Given the description of an element on the screen output the (x, y) to click on. 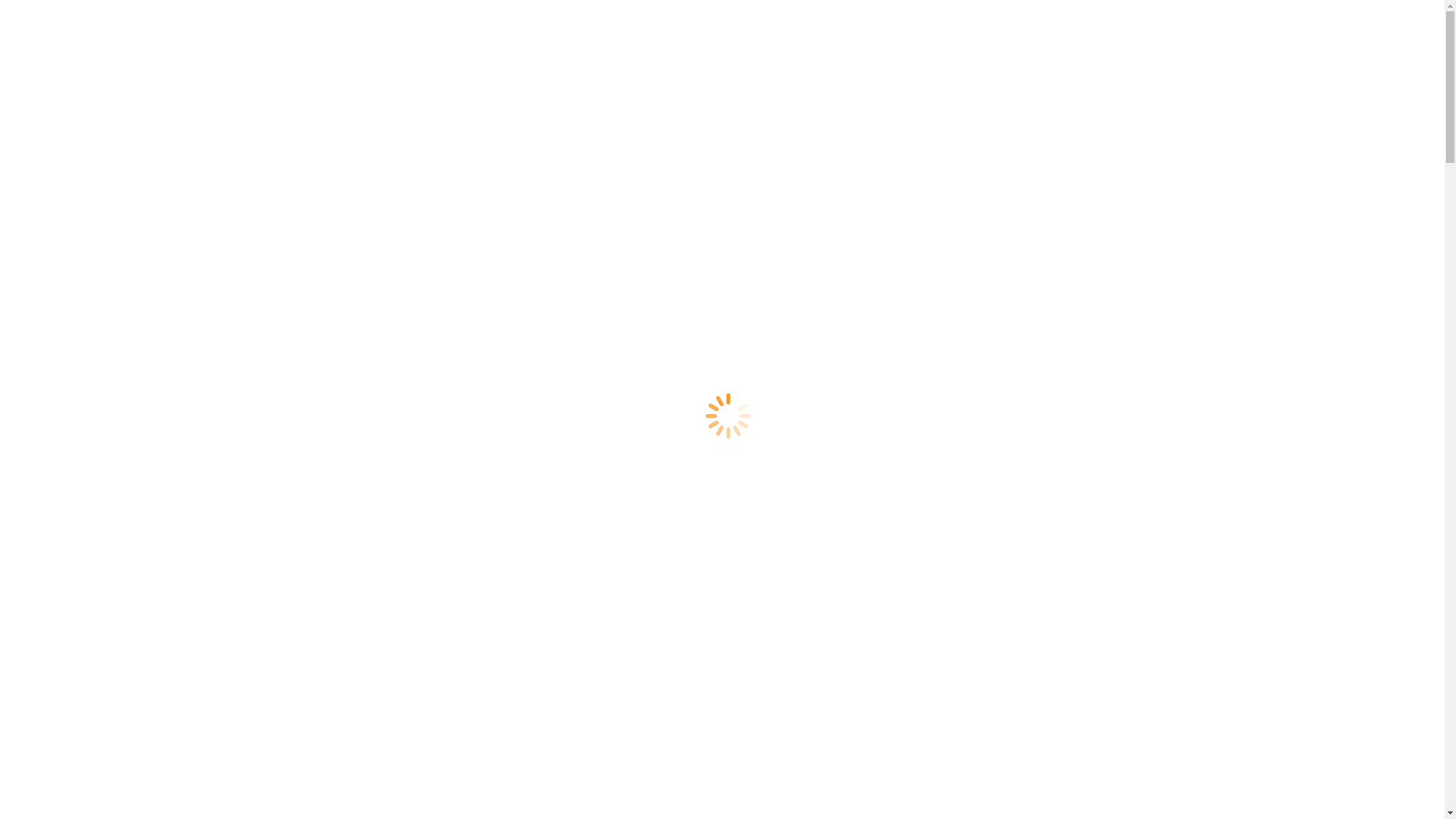
LUXURY CUSTOM HOME BUILDERS SYDNEY Element type: text (194, 391)
GRANNY FLAT BUILDERS WESTERN SYDNEY Element type: text (195, 699)
CUSTOM HOME BUILDERS SYDNEY Element type: text (168, 309)
BLOG Element type: text (58, 241)
DESIGNER HOMES SYDNEY Element type: text (145, 432)
GRANNY FLATS PENRITH Element type: text (138, 658)
GRANNY FLAT BUILDERS WESTERN SYDNEY Element type: text (195, 322)
BUILDING Element type: text (95, 535)
BUILDING Element type: text (95, 159)
CONTACT US Element type: text (78, 227)
PROJECT MANAGEMENT Element type: text (137, 548)
CUSTOM HOME BUILDERS PARRAMATTA Element type: text (183, 753)
PROJECTS Element type: text (70, 200)
LUXURY HOME BUILDERS SYDNEY Element type: text (167, 644)
WHAT WE DO Element type: text (74, 521)
VIEW ALL BLOGS Element type: text (116, 459)
CUSTOM HOME BUILDERS WESTERN SYDNEY Element type: text (198, 363)
HIGH END HOME BUILDERS SYDNEY Element type: text (172, 781)
LUXURY HOME BUILDERS SYDNEY Element type: text (167, 268)
DUPLEX HOME BUILDERS SYDNEY Element type: text (166, 350)
CONTACT US Element type: text (73, 603)
GRANNY FLATS PENRITH Element type: text (138, 282)
GRANNY FLAT BUILDERS WEST SYDNEY Element type: text (183, 794)
CUSTOM HOME BUILDERS PARRAMATTA Element type: text (183, 377)
CUSTOM HOME BUILDERS WESTERN SYDNEY Element type: text (198, 740)
GRANNY FLAT BUILDERS SYDNEY Element type: text (165, 295)
RENOVATIONS & EXTENSIONS Element type: text (128, 214)
WHO WE ARE Element type: text (74, 508)
PROJECTS Element type: text (65, 576)
HOME Element type: text (59, 118)
DESIGNER HOMES SYDNEY Element type: text (145, 808)
CUSTOM HOME BUILDERS SYDNEY Element type: text (168, 685)
WESTERN SYDNEY BUILDERS Element type: text (152, 254)
GRANNY FLAT BUILDERS BLACKTOWN Element type: text (179, 445)
HOME Element type: text (54, 494)
Skip to content Element type: text (5, 5)
HIGH END HOME BUILDERS SYDNEY Element type: text (172, 404)
GRANNY FLAT BUILDERS SYDNEY Element type: text (165, 671)
PROJECT MANAGEMENT Element type: text (137, 172)
WHAT WE DO Element type: text (80, 145)
GRANNY FLAT BUILDERS WEST SYDNEY Element type: text (183, 418)
LUXURY CUSTOM HOME BUILDERS SYDNEY Element type: text (194, 767)
DUPLEX HOME BUILDERS SYDNEY Element type: text (166, 726)
GRANNY FLAT BUILDERS BLACKTOWN Element type: text (179, 336)
OUR PROCESS Element type: text (82, 186)
BLOG Element type: text (52, 617)
WESTERN SYDNEY BUILDERS Element type: text (152, 630)
WHO WE ARE Element type: text (80, 132)
OUR PROCESS Element type: text (76, 562)
RENOVATIONS & EXTENSIONS Element type: text (123, 589)
GRANNY FLAT BUILDERS BLACKTOWN Element type: text (179, 712)
02 8812 3012 Element type: text (39, 12)
